Given the description of an element on the screen output the (x, y) to click on. 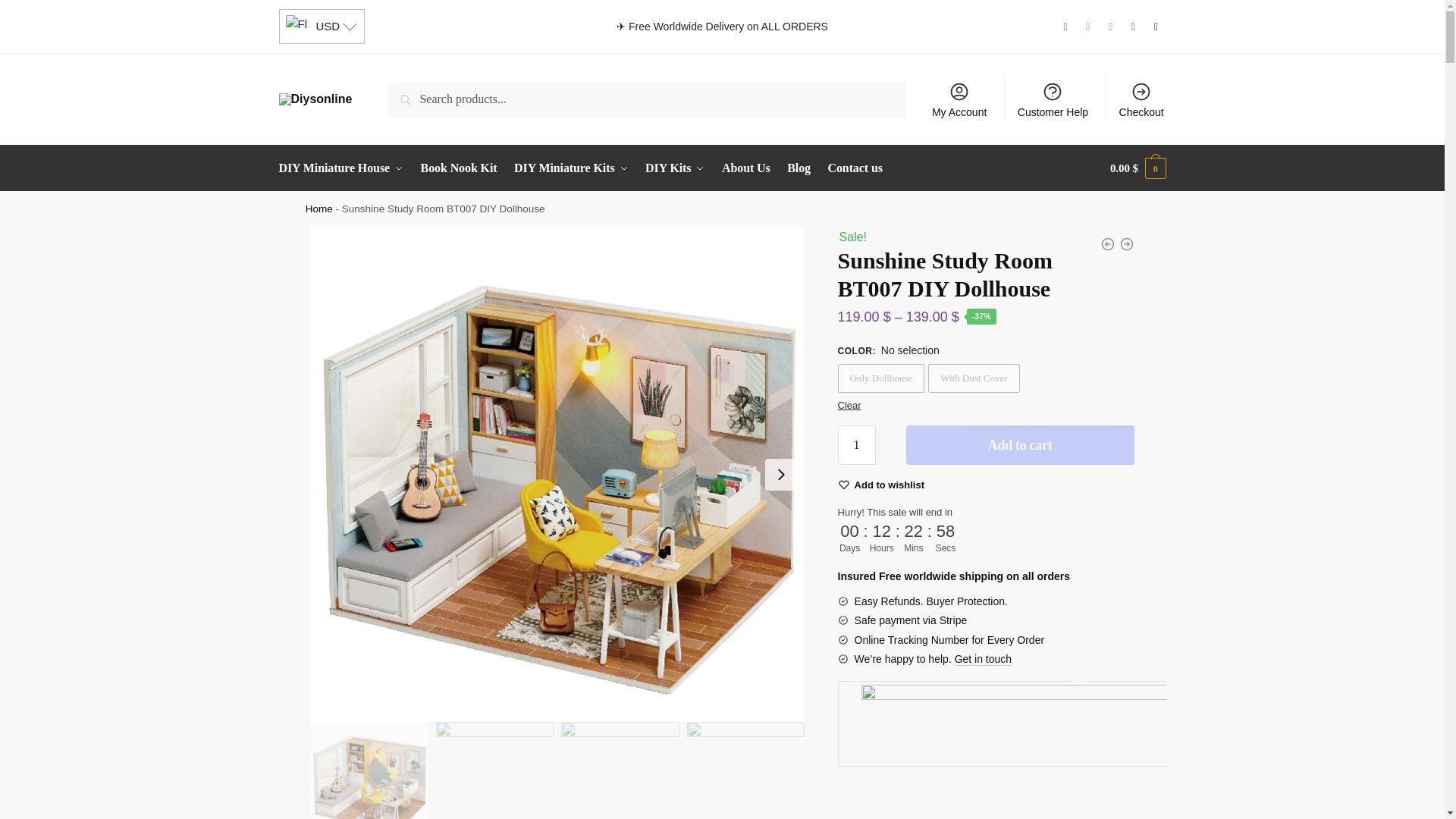
Facebook (1064, 26)
mail (1156, 26)
twitter (1087, 26)
Book Nook Kit (458, 167)
Twitter (1087, 26)
Search (409, 92)
1 (857, 445)
Customer Help (1053, 98)
